Given the description of an element on the screen output the (x, y) to click on. 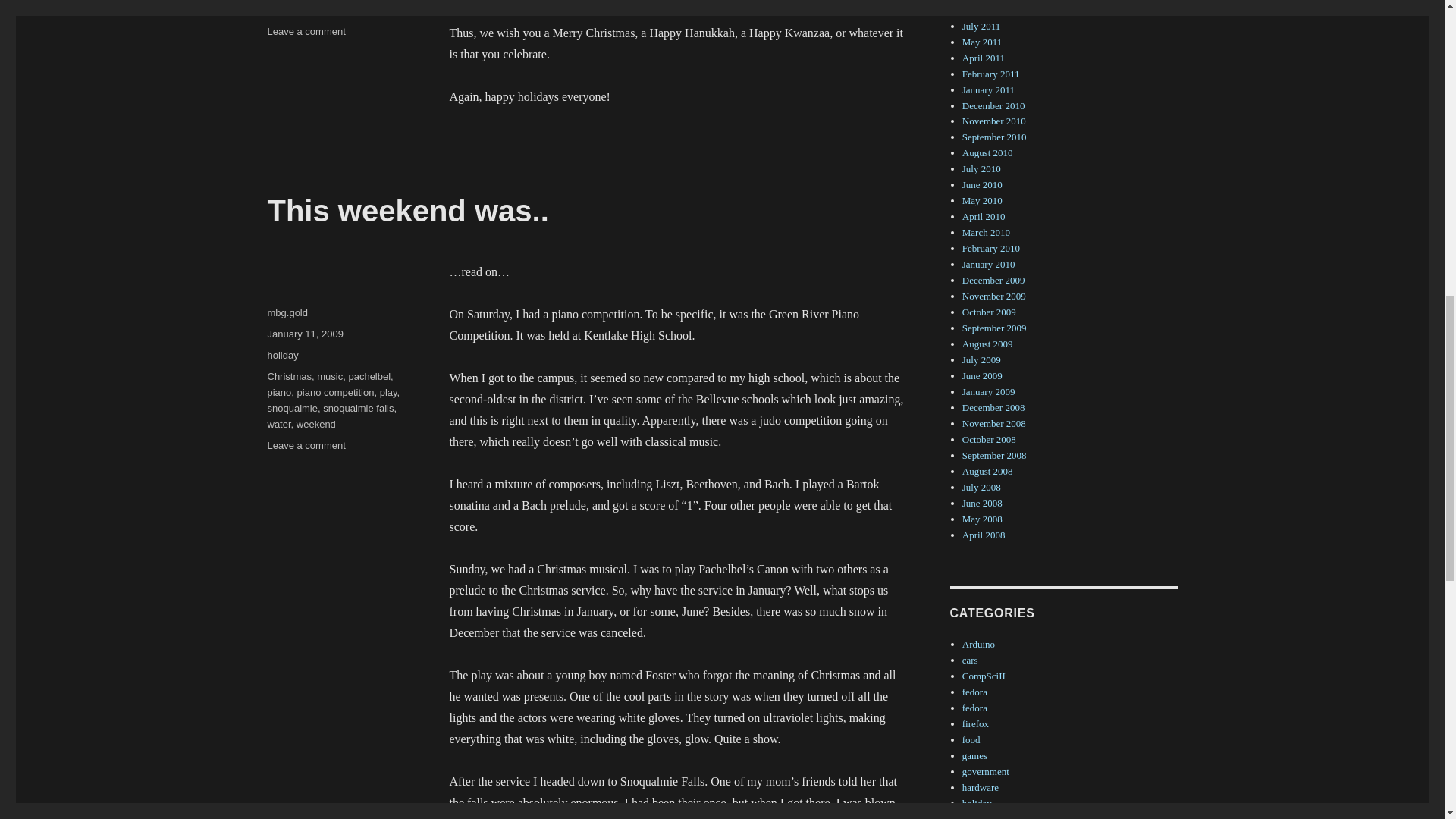
music (305, 445)
January 11, 2009 (329, 376)
This weekend was.. (304, 333)
Christmas (407, 210)
holiday (288, 376)
play (282, 355)
mbg.gold (305, 30)
Christmas (388, 392)
water (286, 312)
piano competition (288, 9)
winter (277, 423)
pachelbel (335, 392)
snoqualmie falls (366, 9)
